Given the description of an element on the screen output the (x, y) to click on. 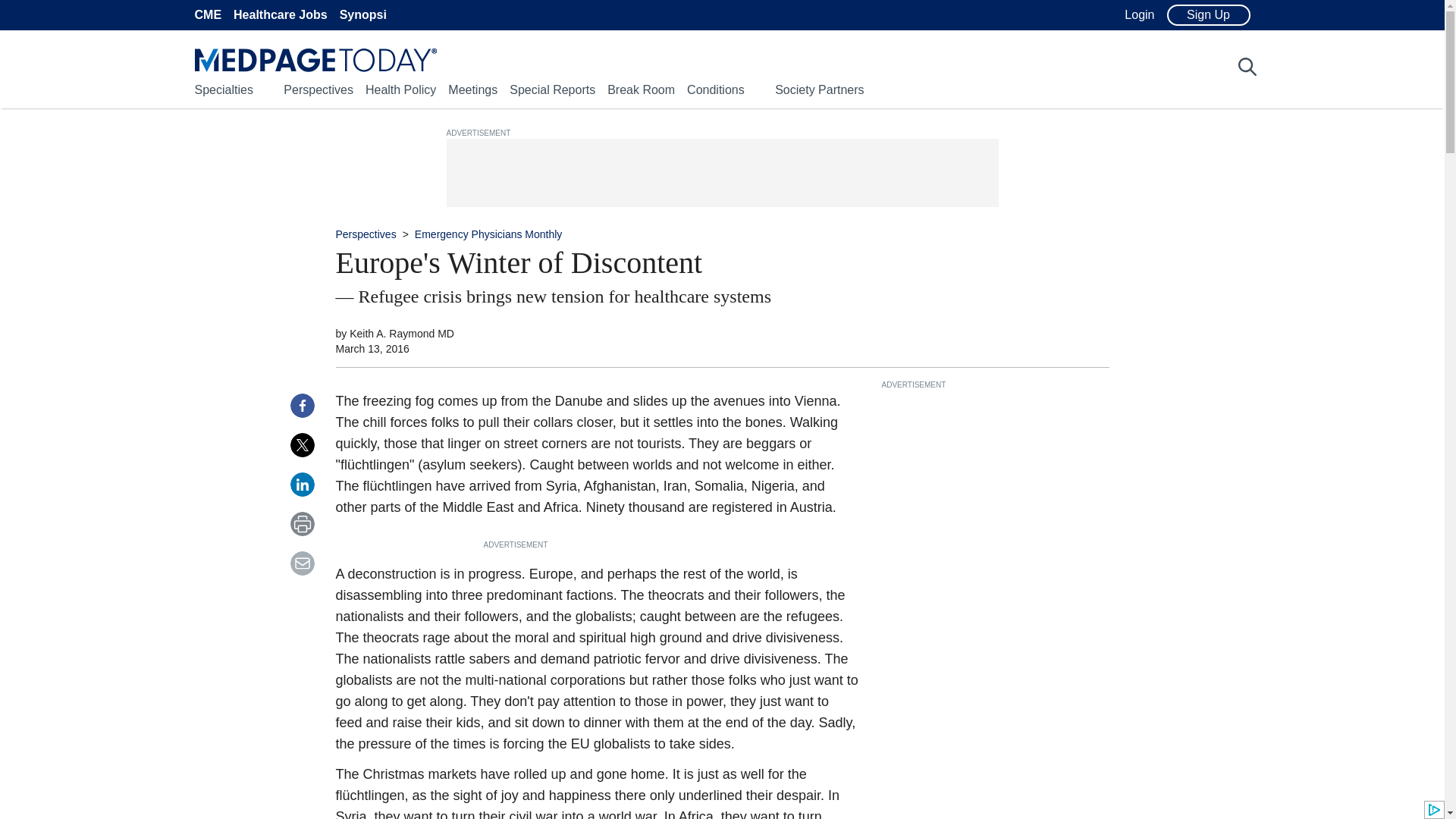
Specialties (222, 89)
Synopsi (363, 15)
Share on Facebook. Opens in a new tab or window (301, 405)
Share on LinkedIn. Opens in a new tab or window (301, 484)
CME (207, 15)
Share on X. Opens in a new tab or window (301, 445)
Healthcare Jobs (279, 15)
